Given the description of an element on the screen output the (x, y) to click on. 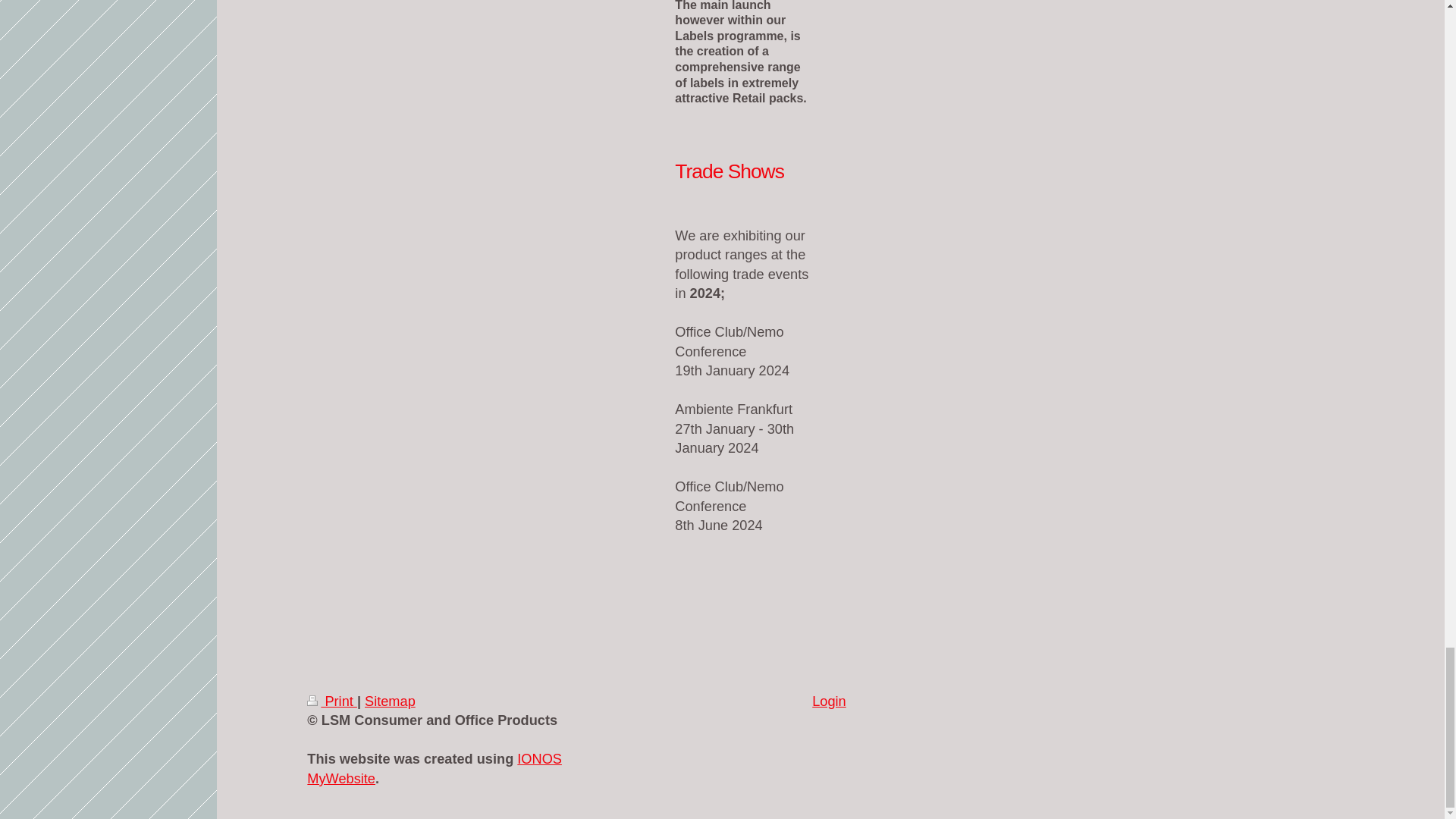
Login (828, 701)
IONOS MyWebsite (434, 768)
Sitemap (389, 701)
Print (331, 701)
